Given the description of an element on the screen output the (x, y) to click on. 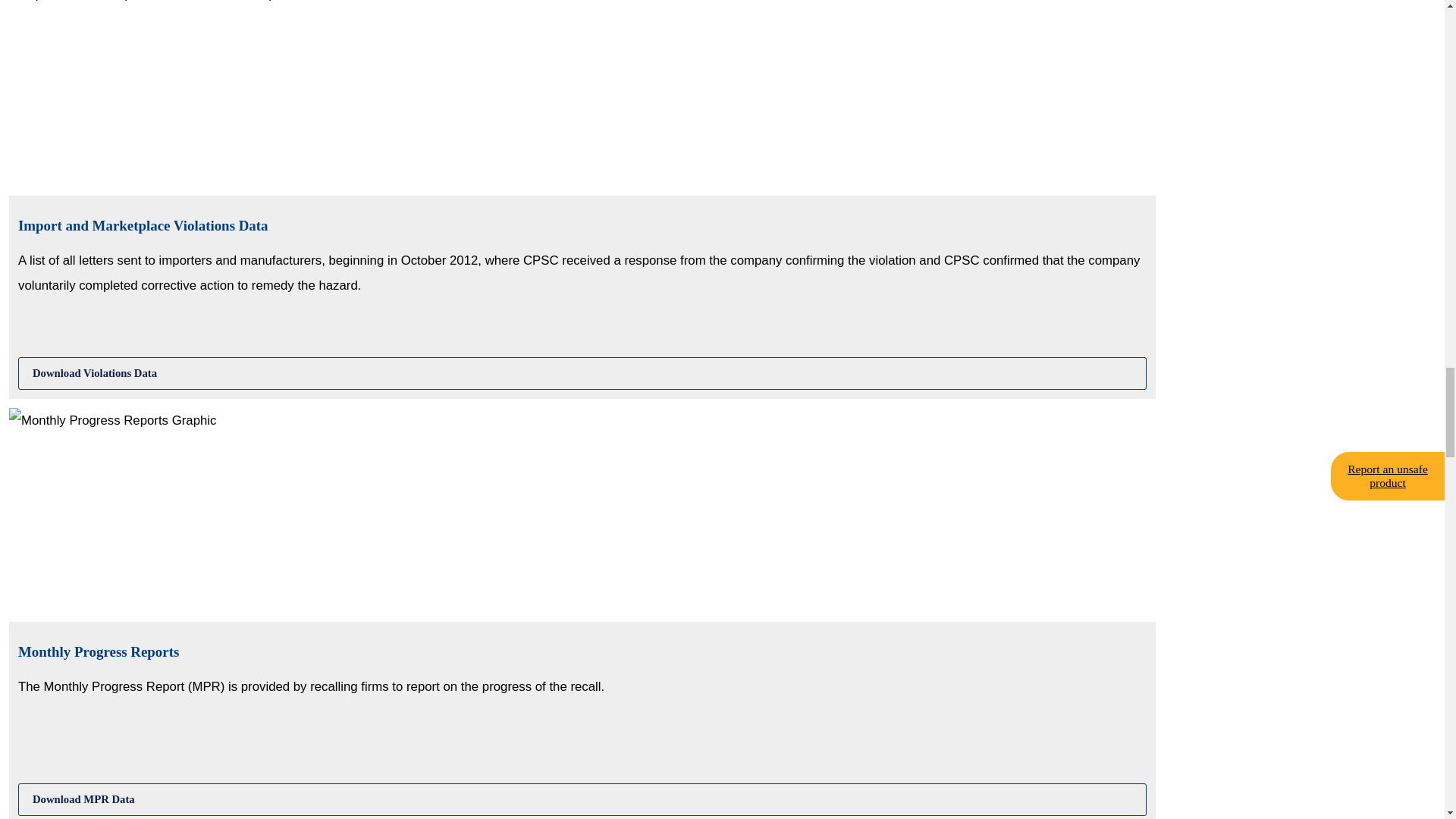
Import and Marketplace Violations Data (582, 373)
Download MPR Data (582, 798)
Monthly Progress Reports (582, 798)
Download Violations Data (582, 373)
